Given the description of an element on the screen output the (x, y) to click on. 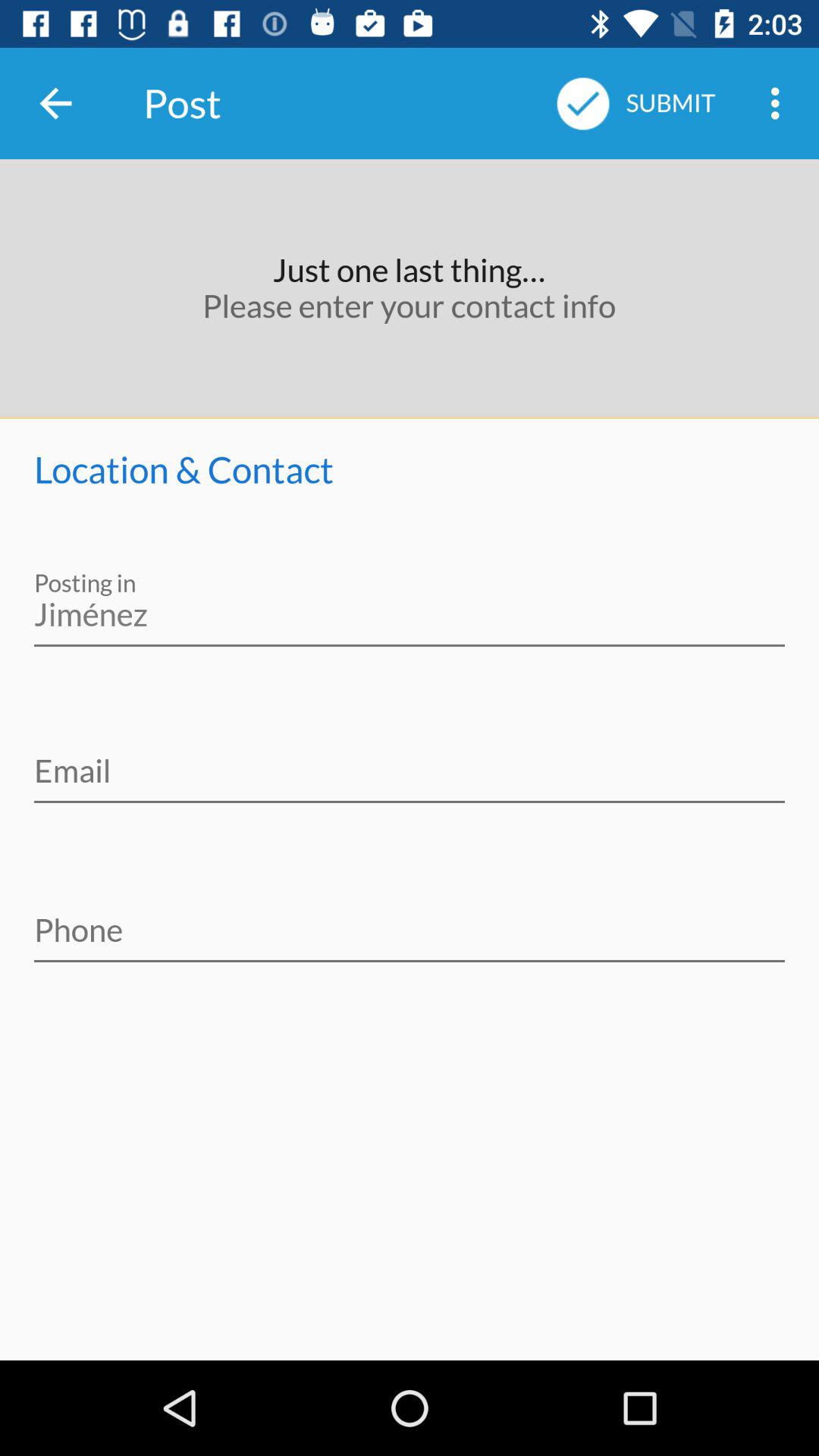
go to get phone number (409, 919)
